Given the description of an element on the screen output the (x, y) to click on. 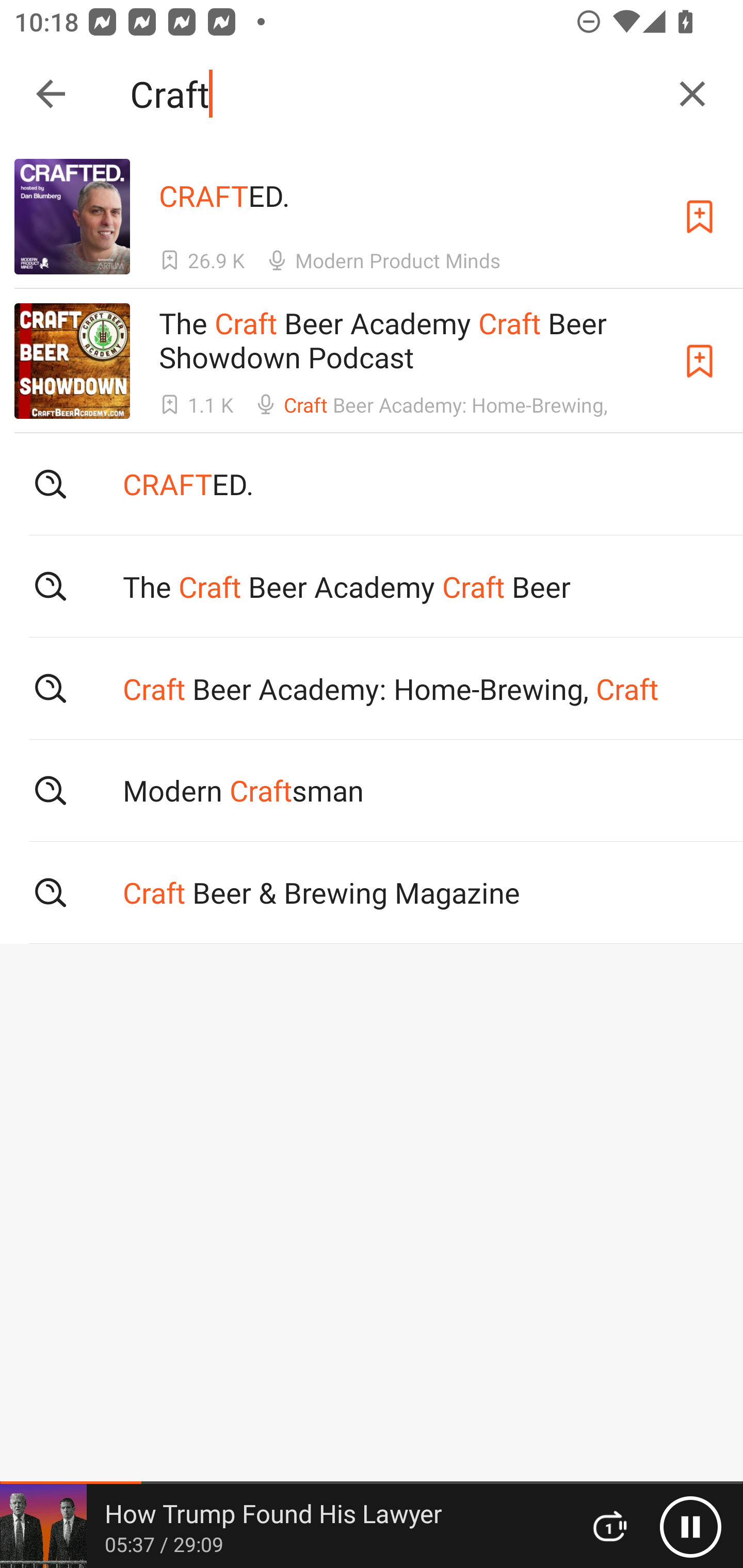
Collapse (50, 93)
Clear query (692, 93)
Craft (393, 94)
Subscribe (699, 216)
Subscribe (699, 360)
 CRAFTED. (371, 483)
 Modern Craftsman (371, 791)
 Craft Beer & Brewing Magazine (371, 892)
How Trump Found His Lawyer 05:37 / 29:09 (283, 1525)
Pause (690, 1526)
